Given the description of an element on the screen output the (x, y) to click on. 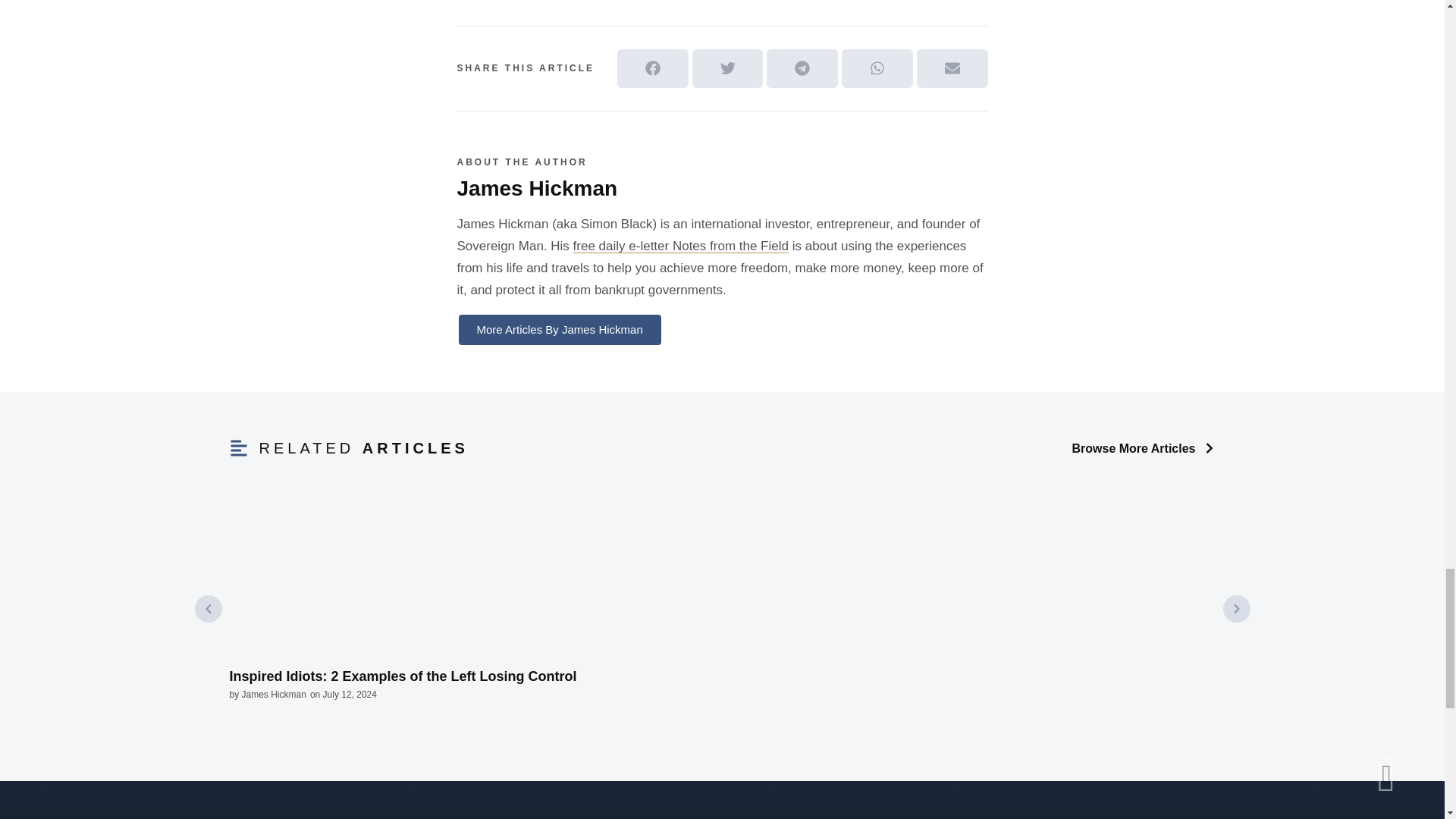
More Articles By James Hickman (559, 329)
Browse More Articles (1142, 448)
